Given the description of an element on the screen output the (x, y) to click on. 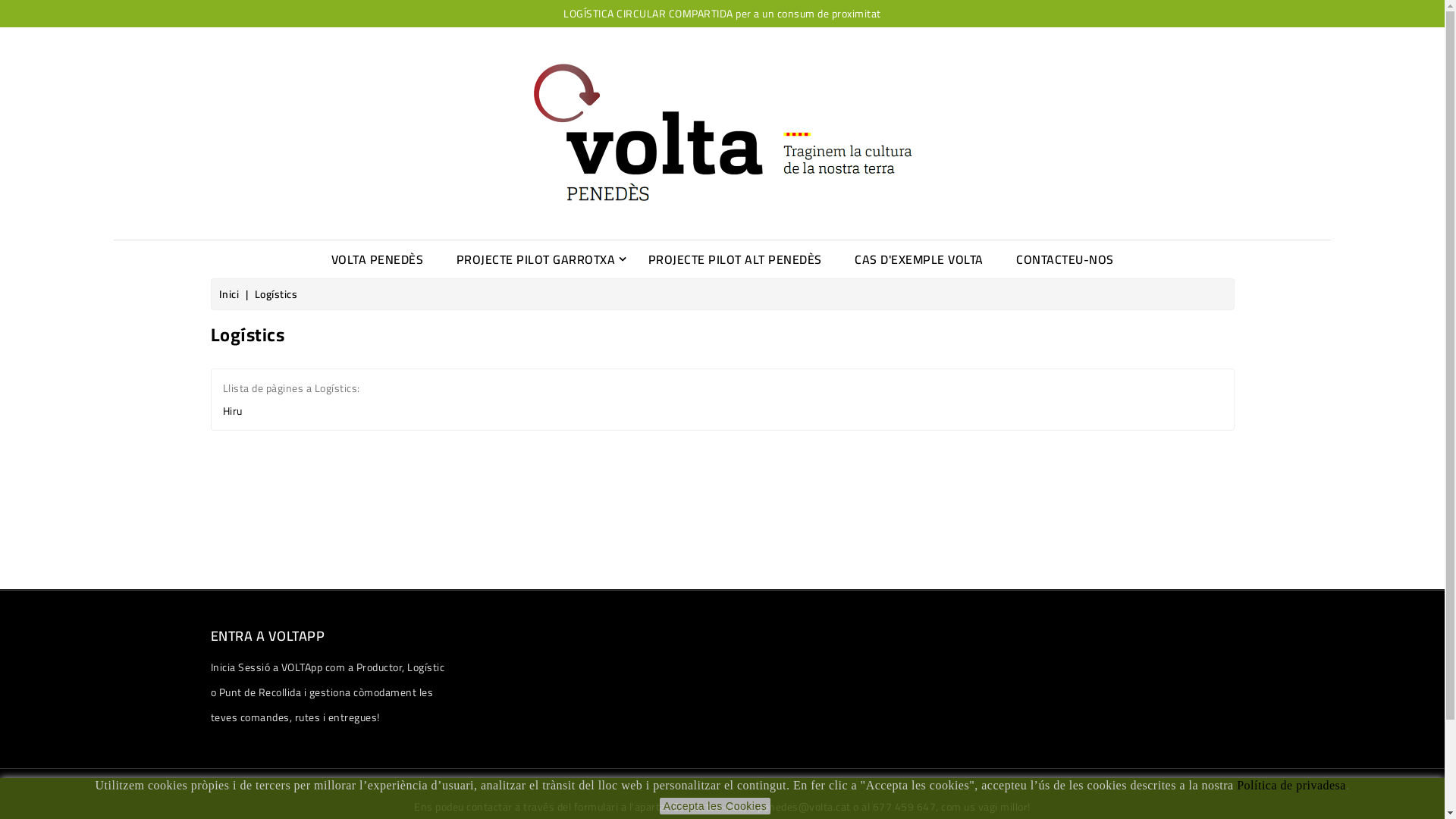
CAS D'EXEMPLE VOLTA Element type: text (918, 259)
PROJECTE PILOT GARROTXA Element type: text (535, 259)
Inici Element type: text (229, 294)
Accepta les Cookies Element type: text (714, 805)
Hiru Element type: text (232, 410)
CONTACTEU-NOS Element type: text (1064, 259)
